Given the description of an element on the screen output the (x, y) to click on. 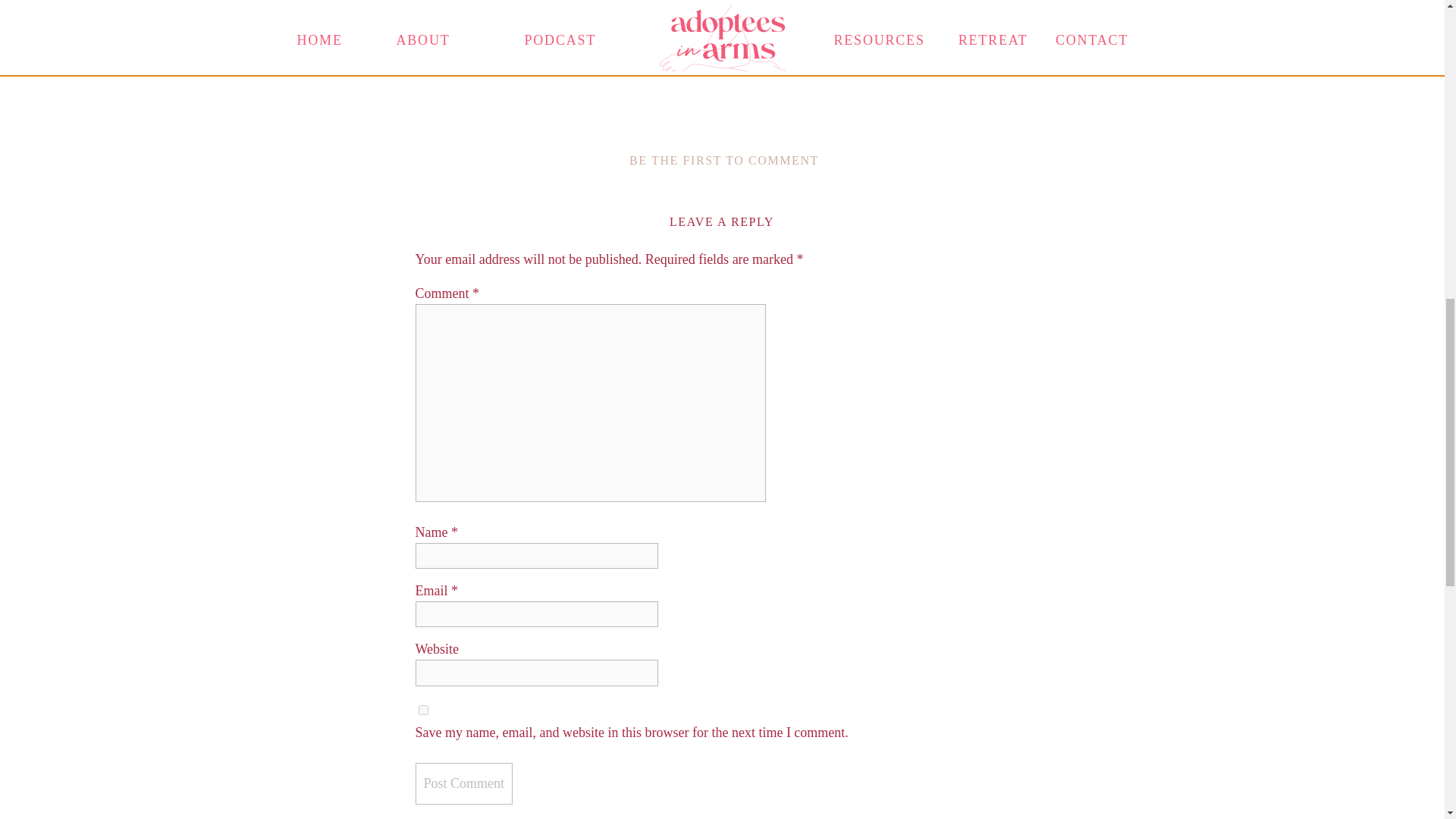
Post Comment (463, 782)
yes (423, 709)
Post Comment (463, 782)
BE THE FIRST TO COMMENT (723, 160)
